Given the description of an element on the screen output the (x, y) to click on. 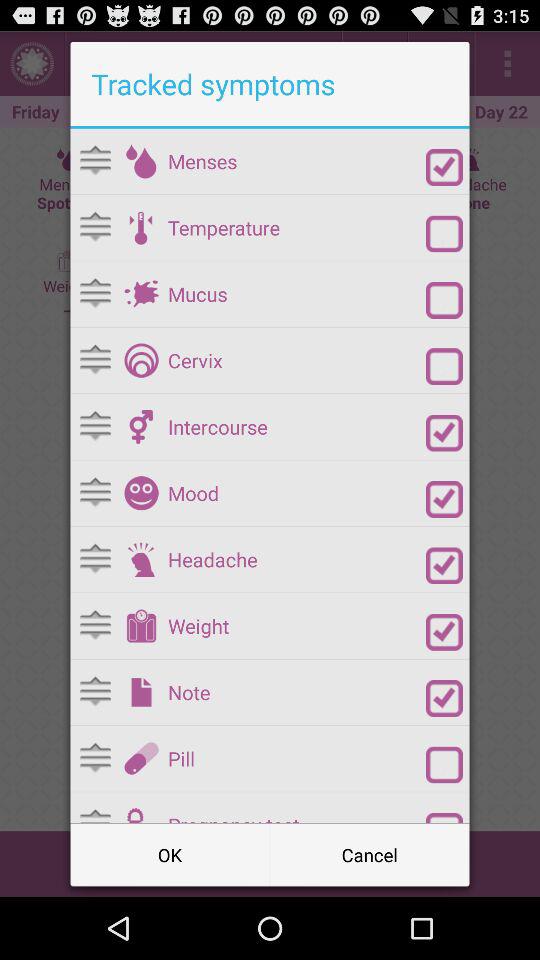
select weight radio button (444, 631)
